Given the description of an element on the screen output the (x, y) to click on. 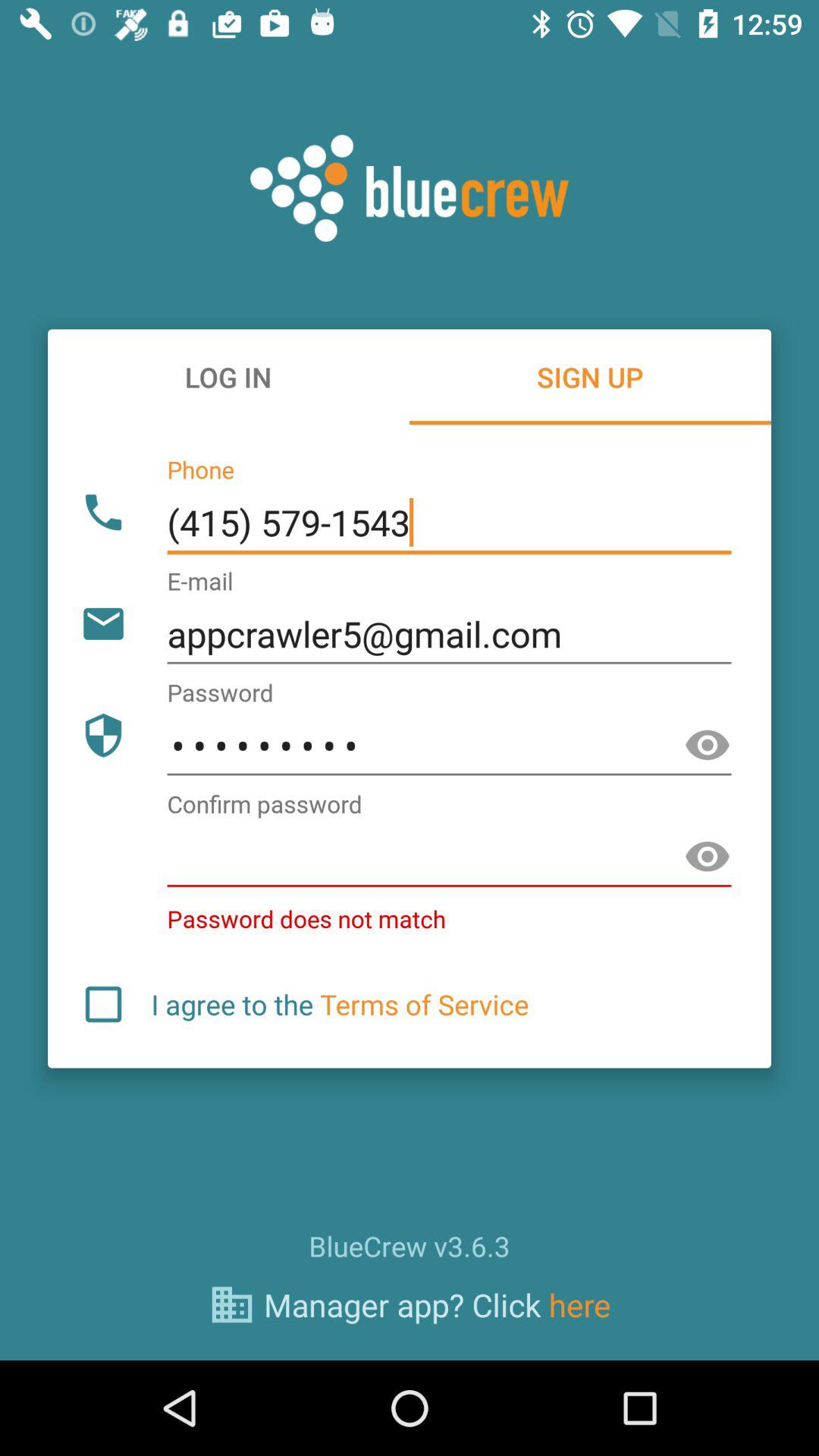
agree checkbox (103, 1004)
